Given the description of an element on the screen output the (x, y) to click on. 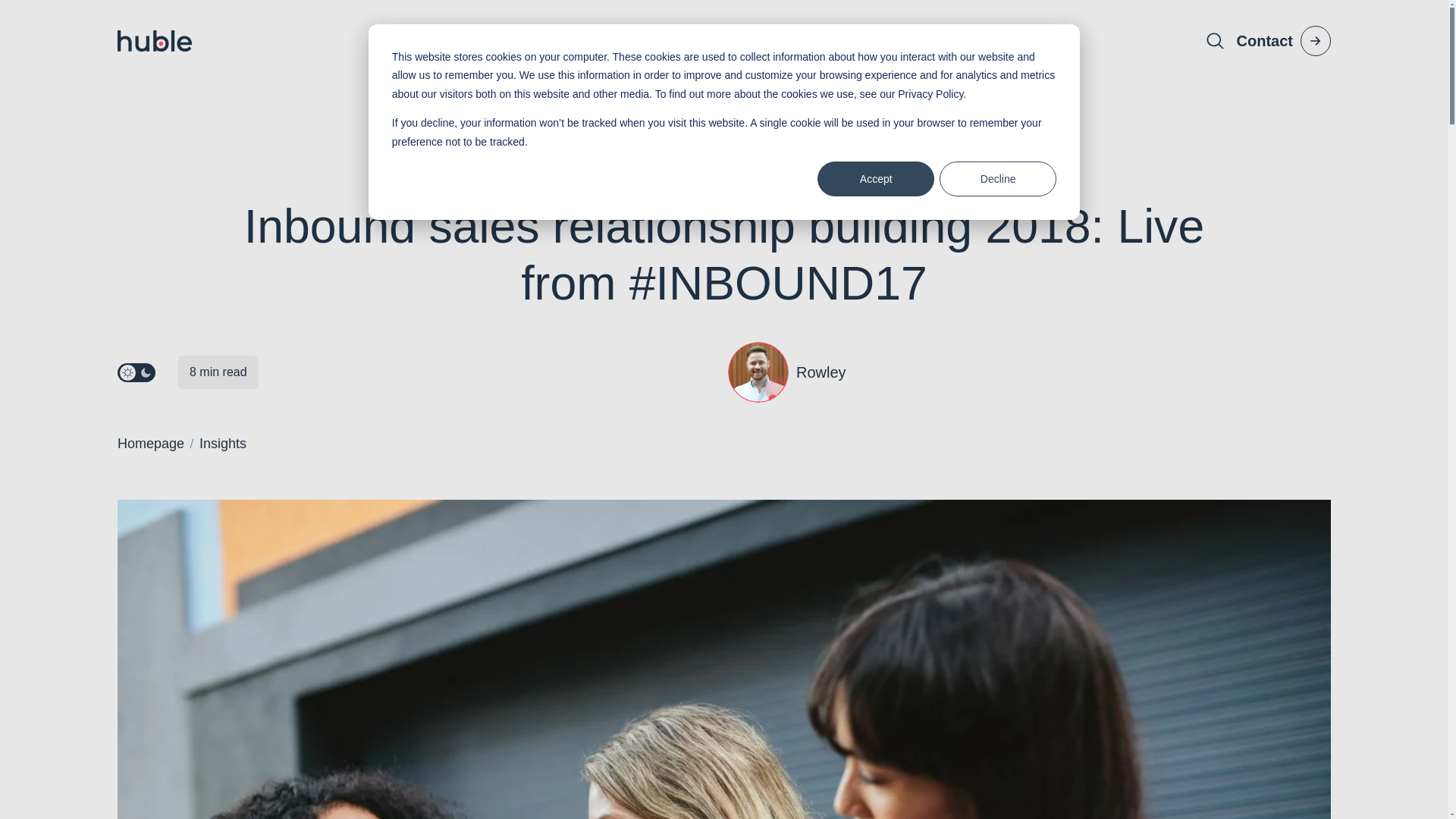
Contact (1283, 40)
on (124, 369)
Homepage (456, 40)
Insights (150, 443)
